Given the description of an element on the screen output the (x, y) to click on. 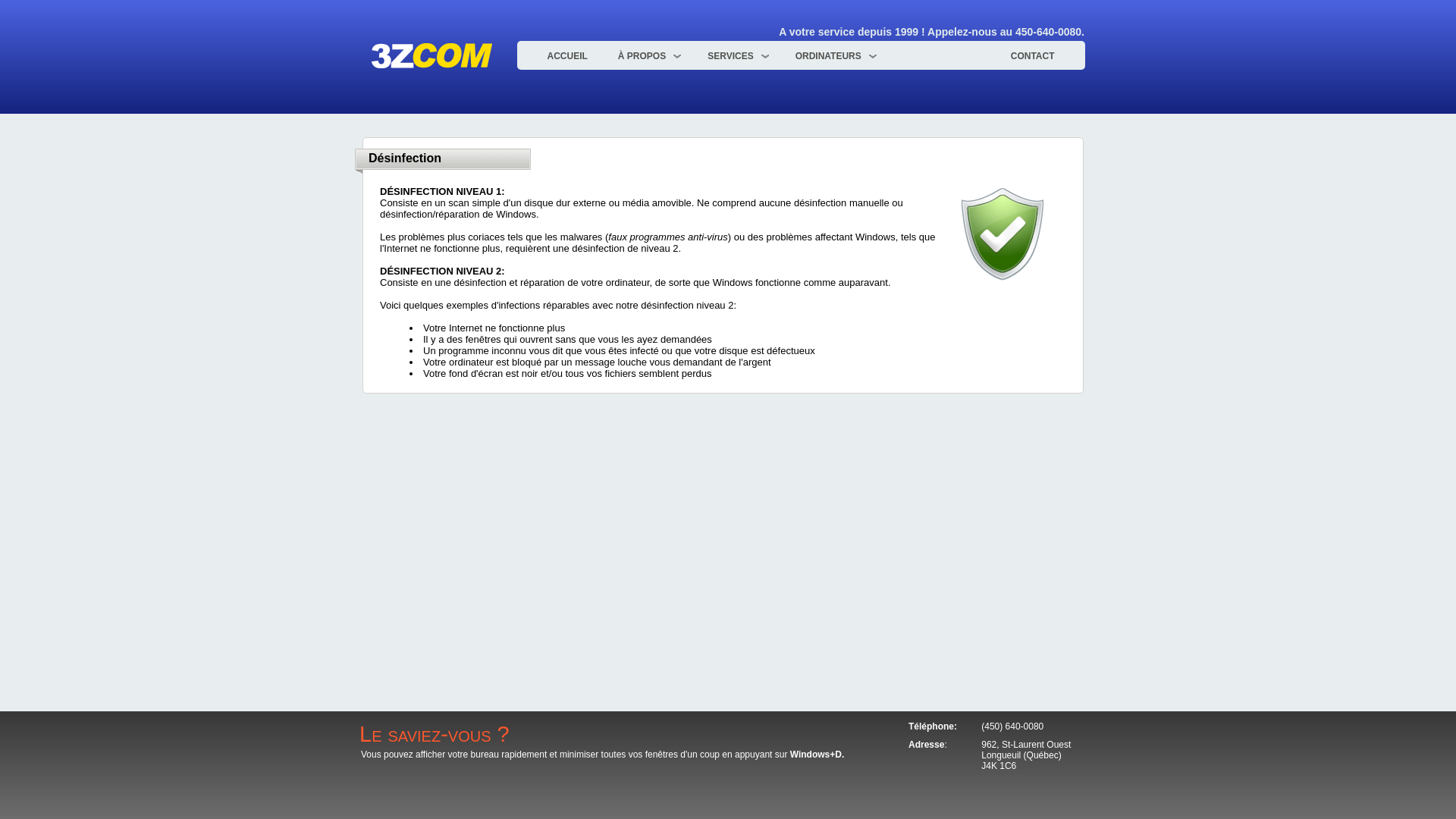
SERVICES Element type: text (735, 55)
CONTACT Element type: text (1032, 55)
3ZCOM Element type: hover (431, 55)
ORDINATEURS Element type: text (834, 55)
ACCUEIL Element type: text (567, 55)
